Given the description of an element on the screen output the (x, y) to click on. 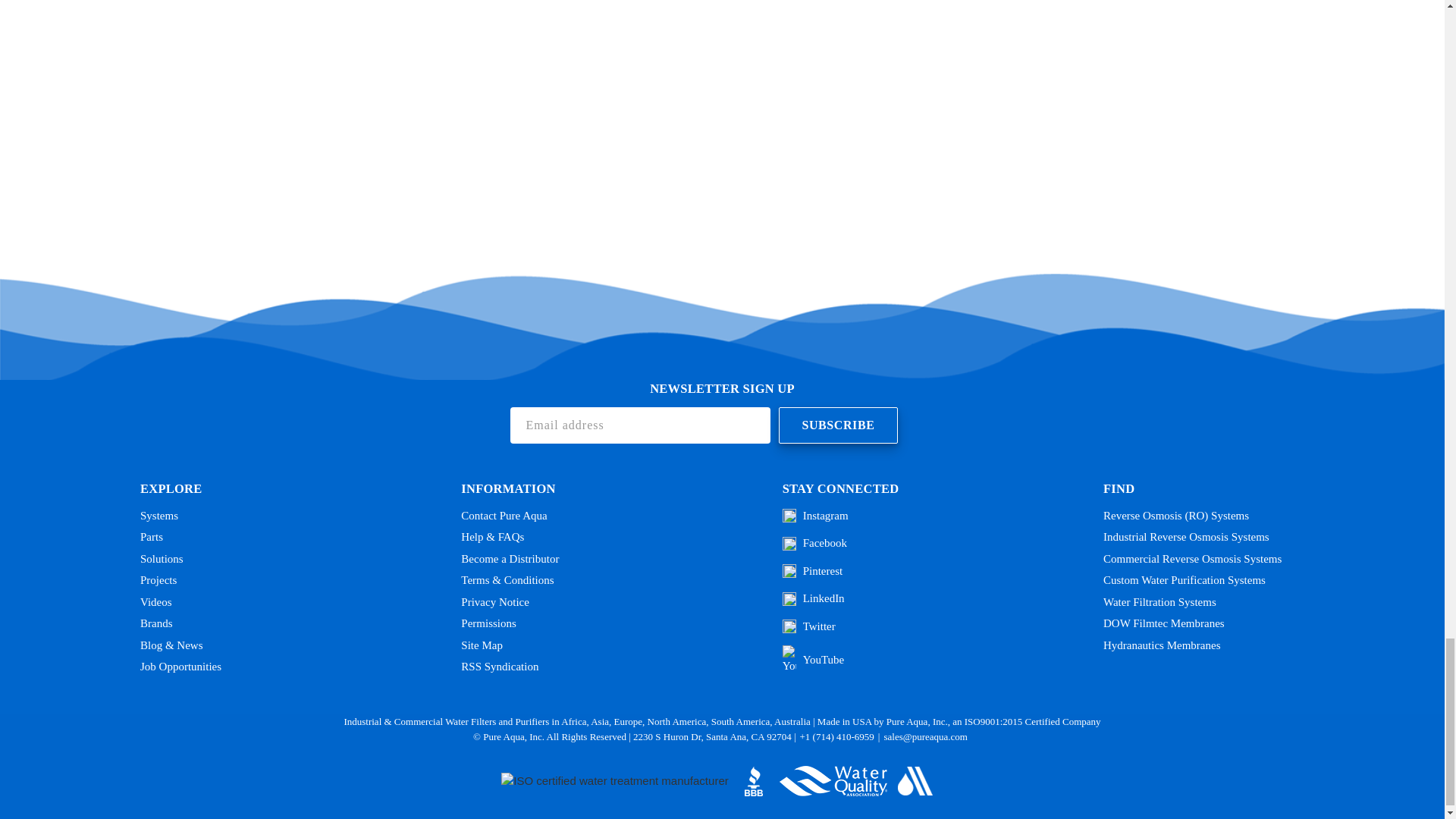
SUBSCRIBE (837, 425)
